Given the description of an element on the screen output the (x, y) to click on. 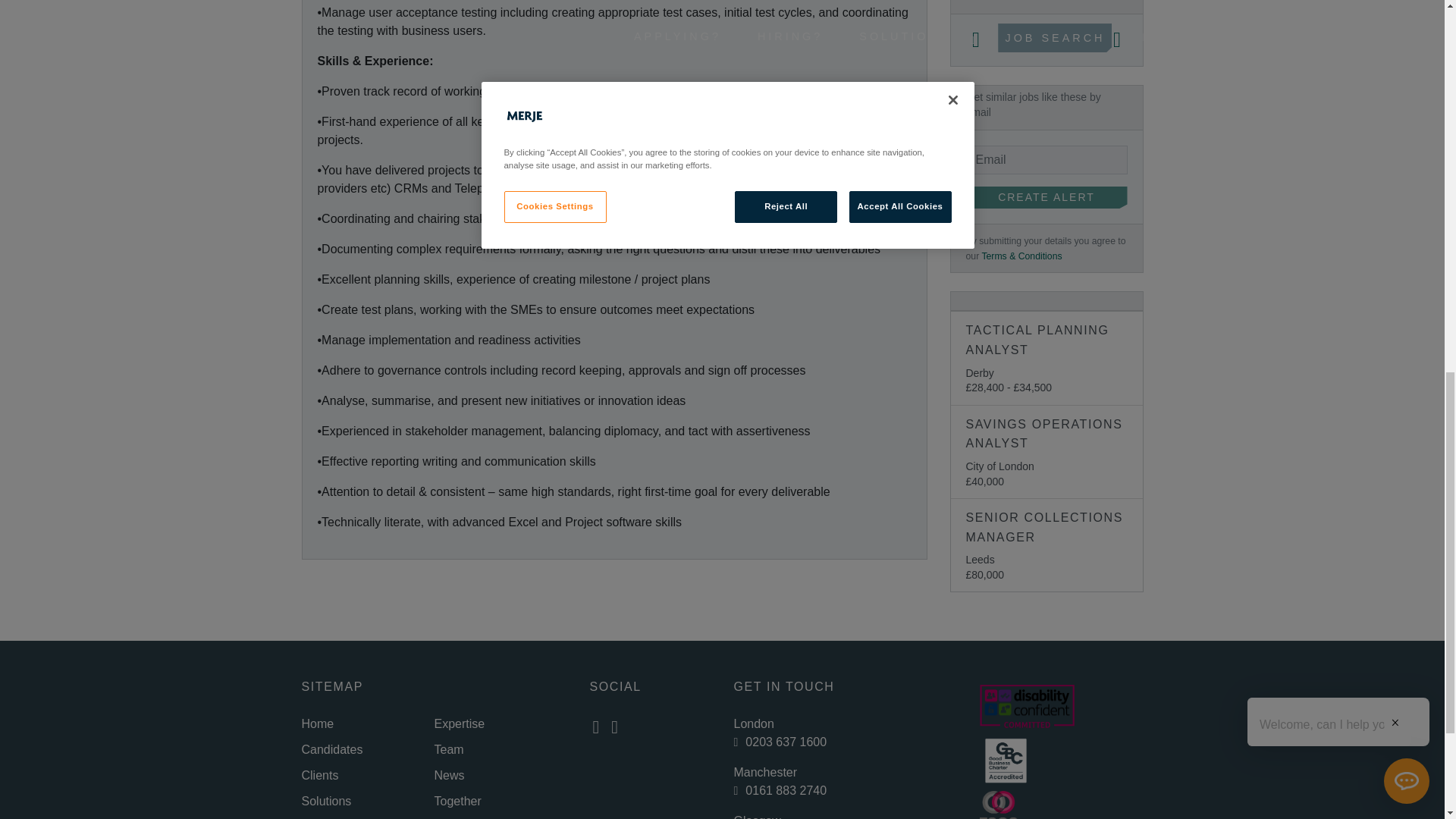
CREATE ALERT (1046, 197)
